Given the description of an element on the screen output the (x, y) to click on. 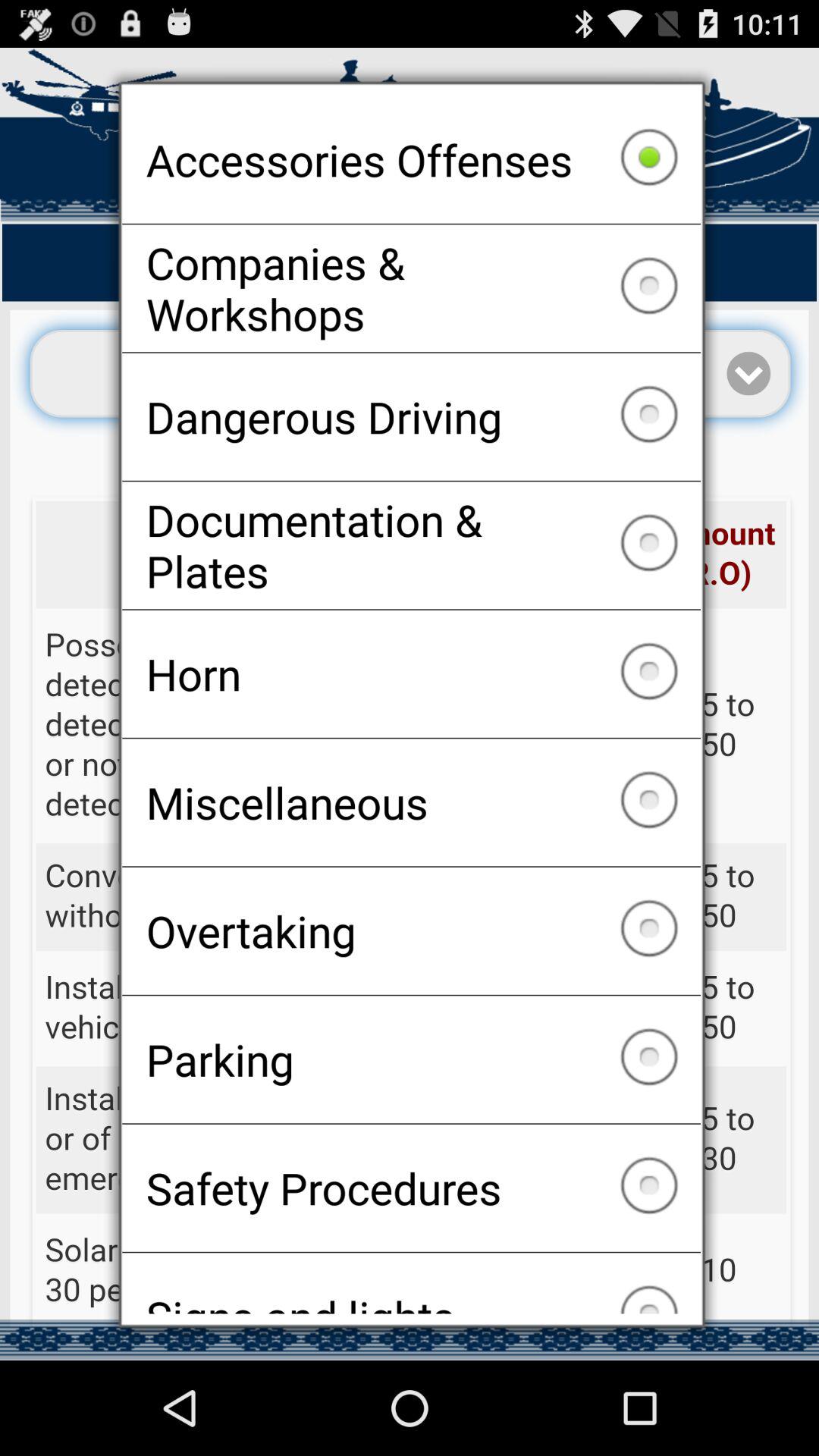
swipe to the parking (411, 1059)
